Given the description of an element on the screen output the (x, y) to click on. 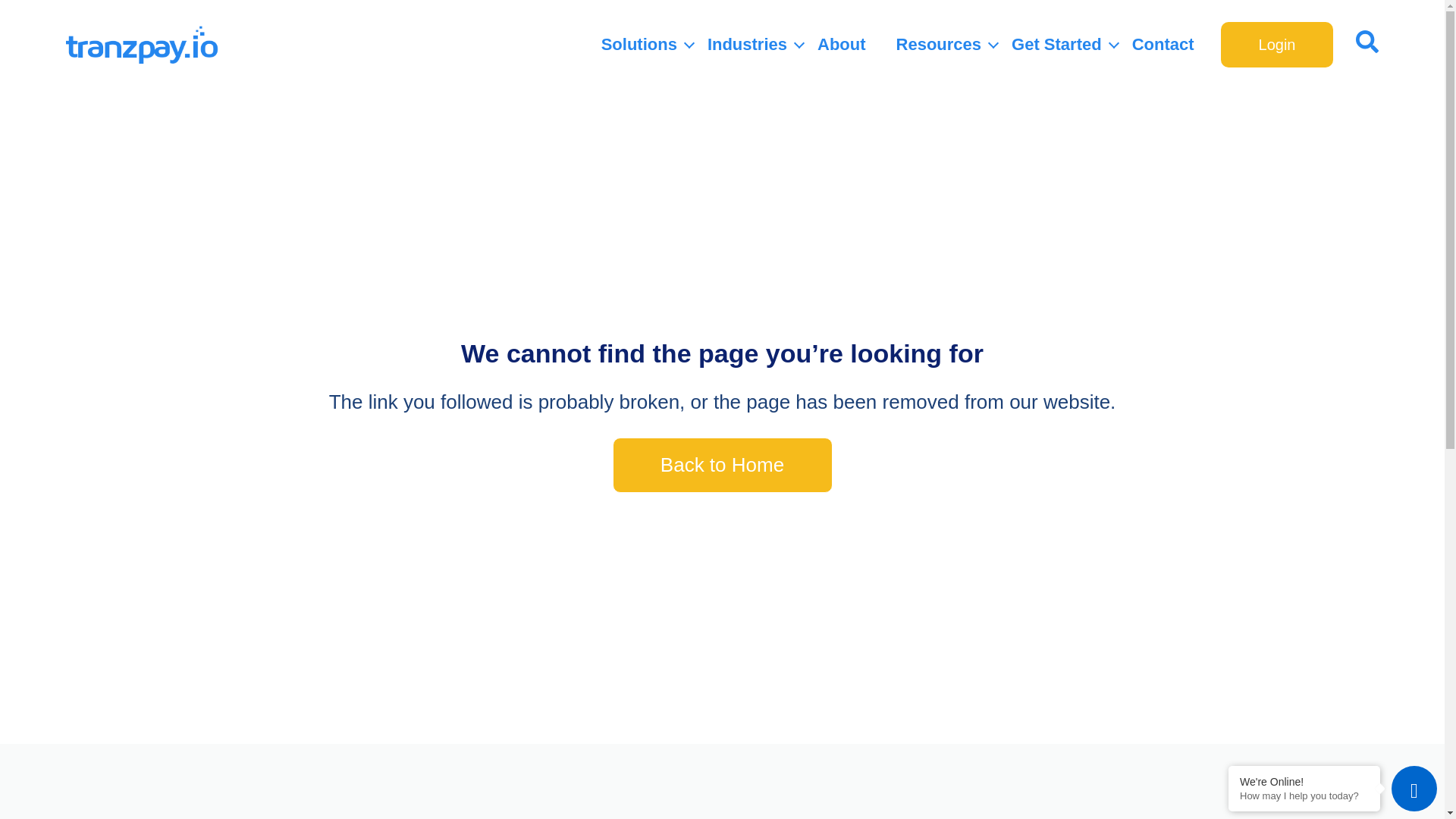
We're Online! (1304, 781)
About (841, 43)
Contact (1162, 43)
Login (1277, 43)
Resources (938, 43)
Solutions (639, 43)
Get Started (1056, 43)
Industries (747, 43)
How may I help you today? (1304, 795)
